Given the description of an element on the screen output the (x, y) to click on. 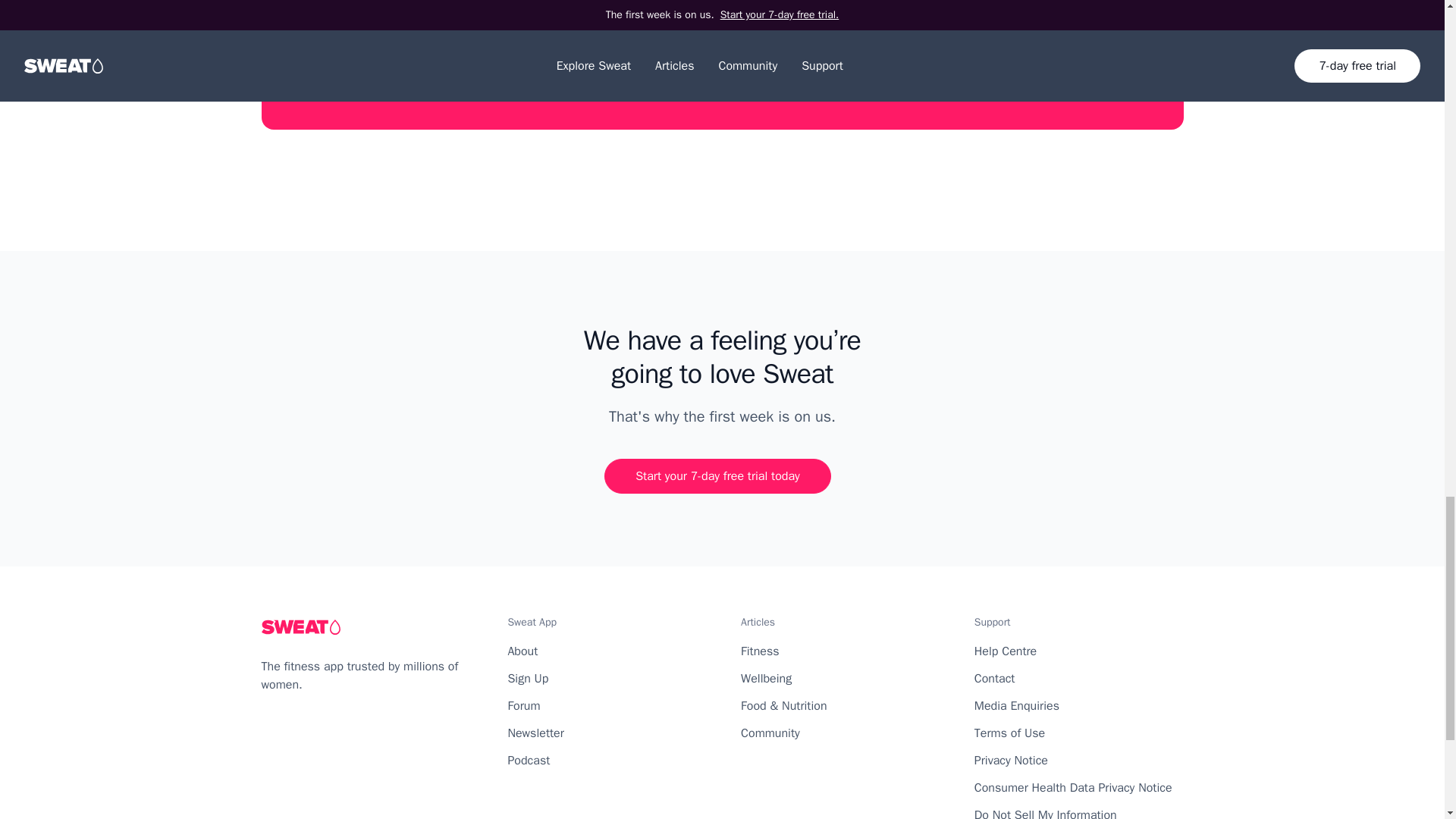
About (521, 651)
Start your 7-day free trial today (717, 475)
Wellbeing (766, 678)
Forum (523, 705)
Contact (994, 678)
Community (770, 733)
Start your 7-day free trial today (717, 63)
Sign Up (527, 678)
Fitness (759, 651)
Newsletter (534, 733)
